Given the description of an element on the screen output the (x, y) to click on. 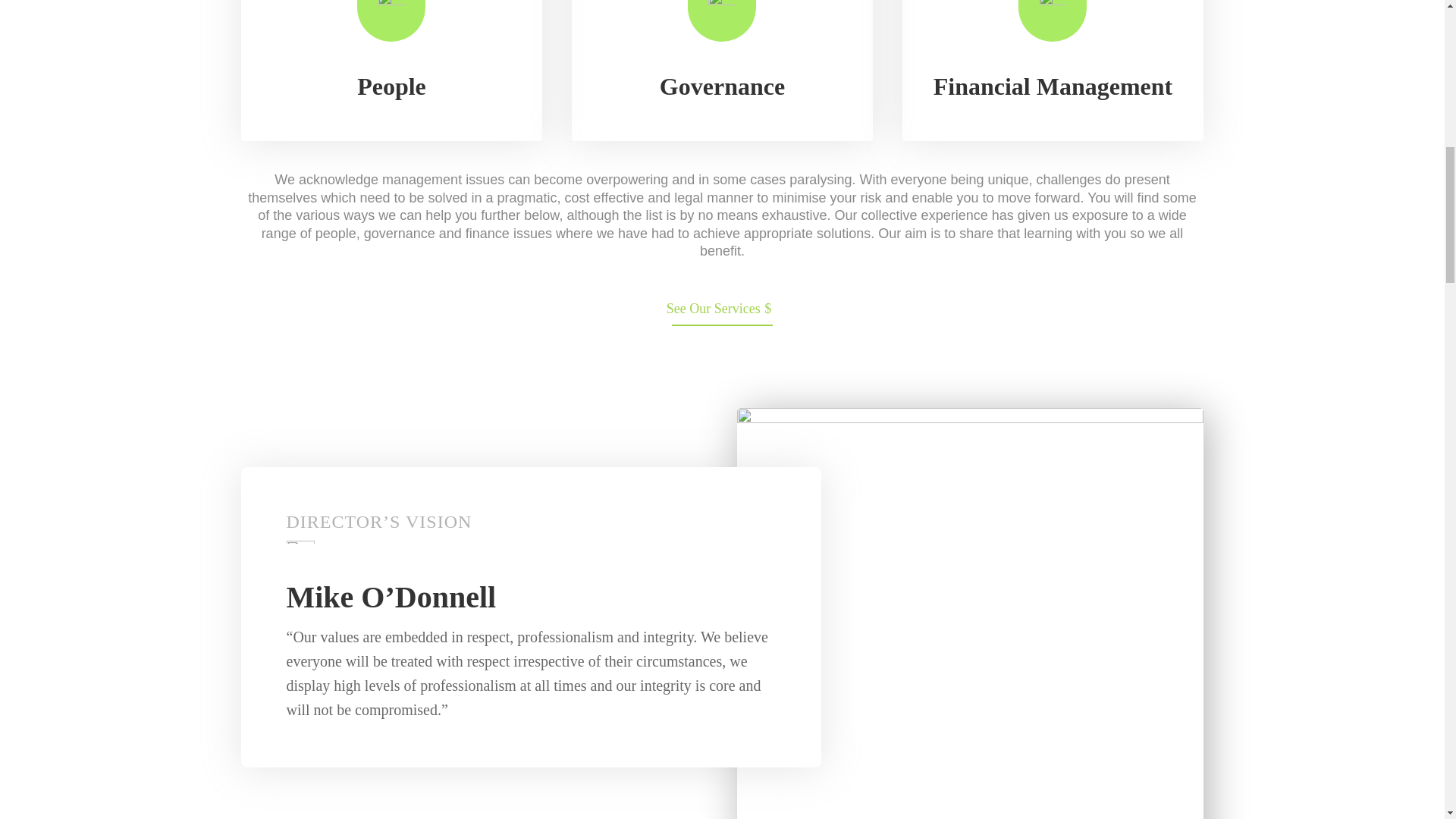
See Our Services (721, 309)
